Given the description of an element on the screen output the (x, y) to click on. 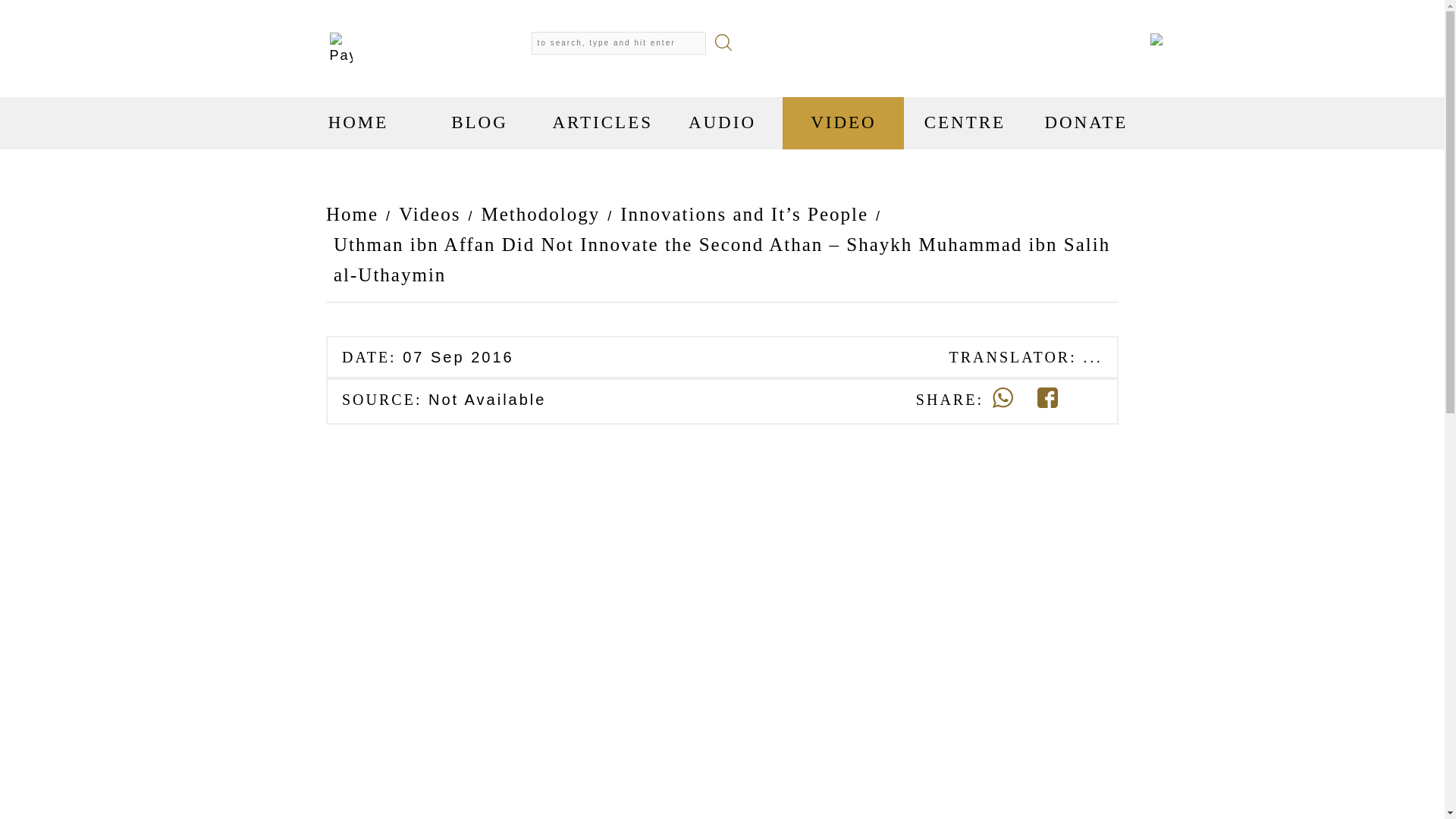
HOME (358, 123)
Go to Masjid Daar us Sunnah. (355, 214)
Go to the Methodology Video Category archives. (540, 214)
BLOG (479, 123)
ARTICLES (600, 123)
Go to Videos. (429, 214)
